Given the description of an element on the screen output the (x, y) to click on. 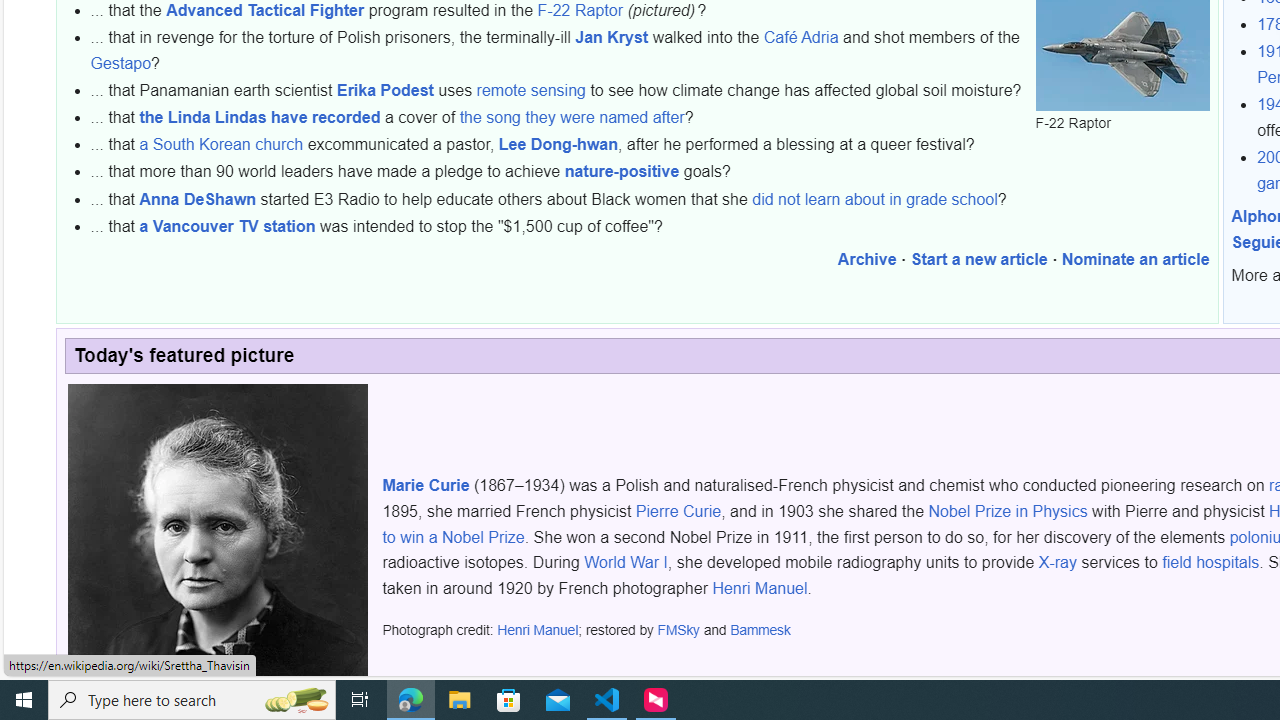
the Linda Lindas have recorded (260, 117)
the song they were named after (571, 117)
Start a new article (979, 260)
did not learn about in grade school (875, 199)
remote sensing (531, 89)
